Given the description of an element on the screen output the (x, y) to click on. 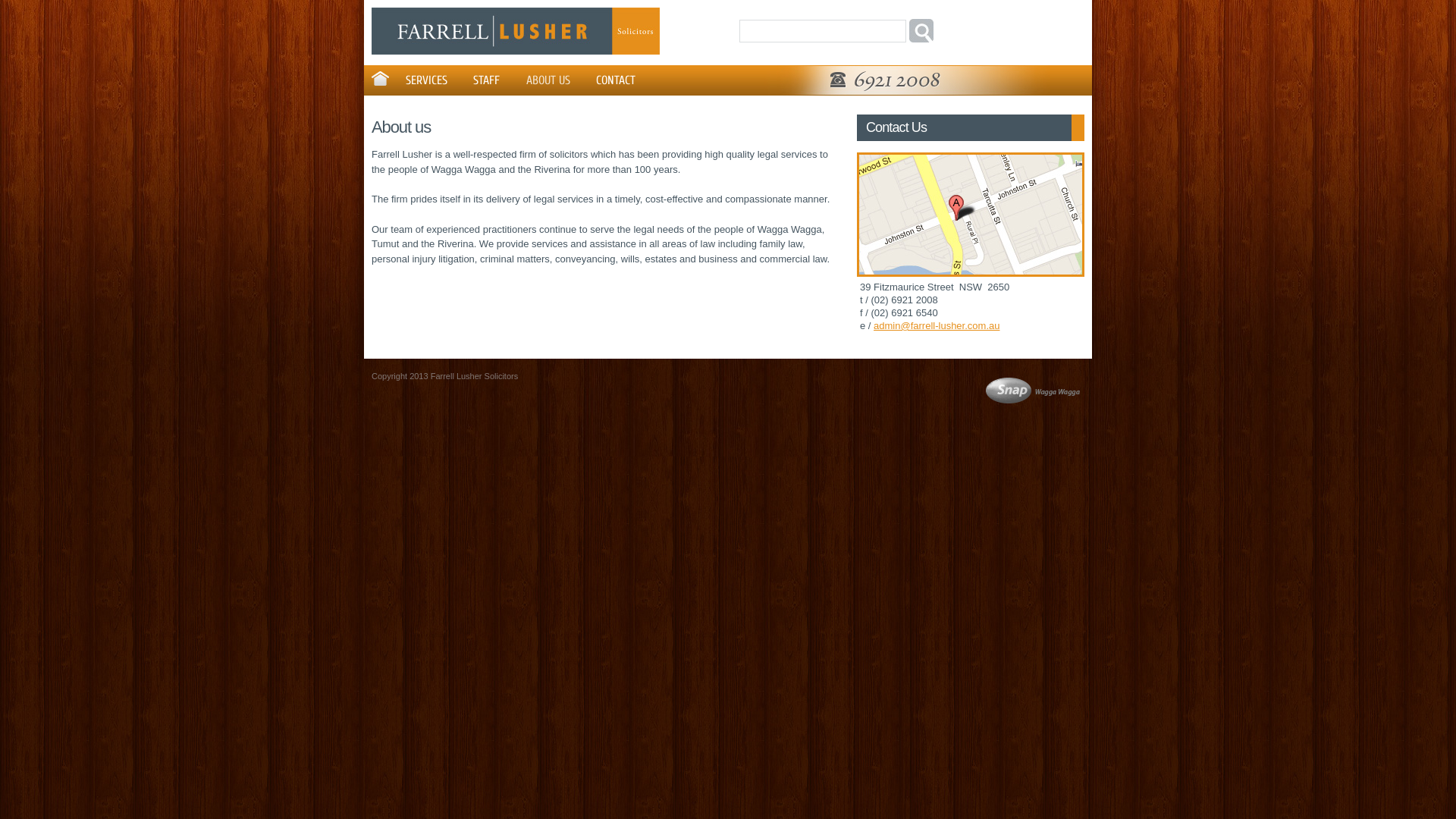
ABOUT US Element type: text (548, 80)
SERVICES Element type: text (425, 80)
Enter the terms you wish to search for. Element type: hover (822, 30)
STAFF Element type: text (486, 80)
Skip to main content Element type: text (700, 1)
admin@farrell-lusher.com.au Element type: text (936, 325)
HOME Element type: text (380, 78)
CONTACT Element type: text (615, 80)
